Given the description of an element on the screen output the (x, y) to click on. 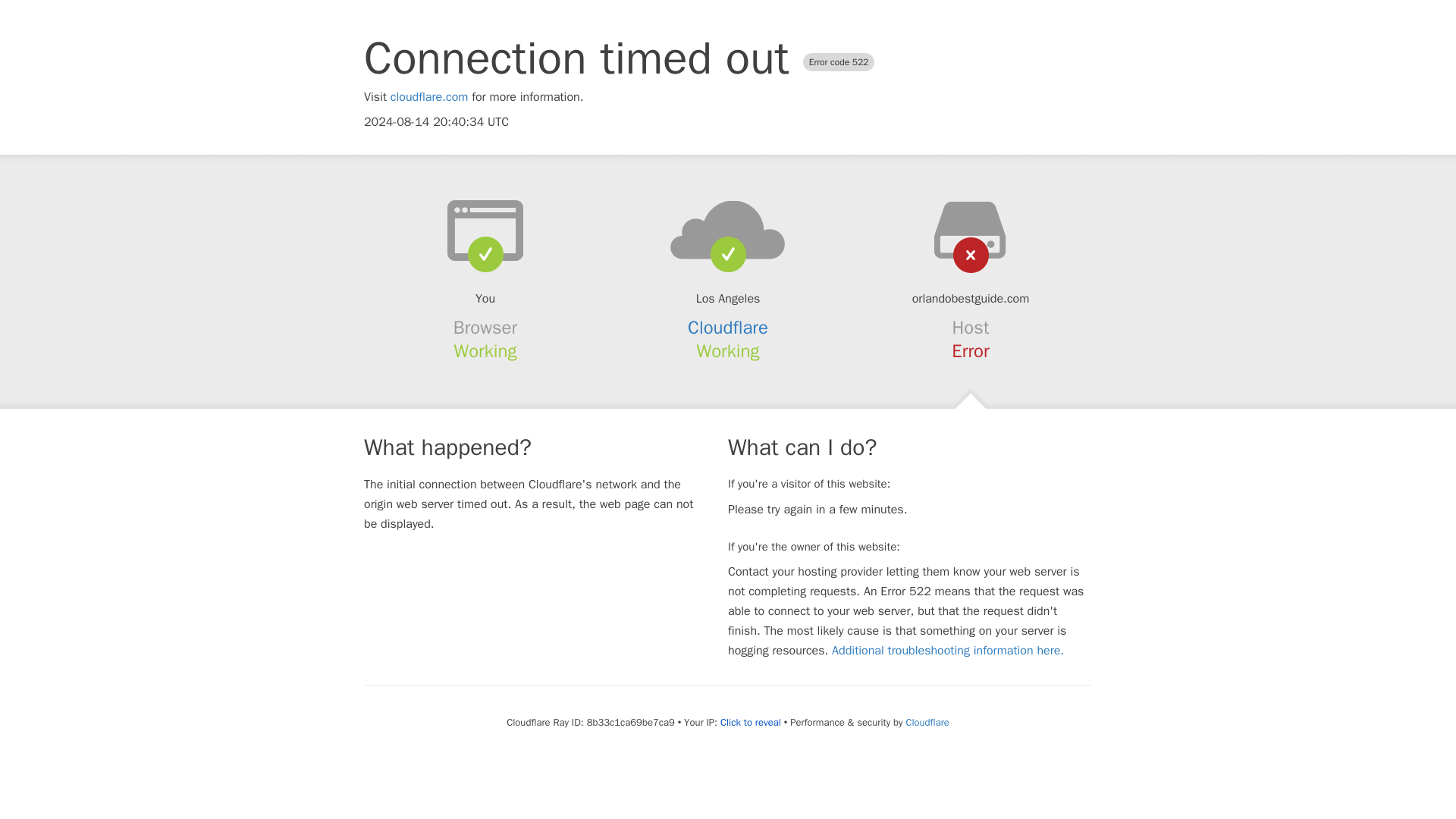
Additional troubleshooting information here. (947, 650)
Cloudflare (927, 721)
Click to reveal (750, 722)
cloudflare.com (429, 96)
Cloudflare (727, 327)
